Given the description of an element on the screen output the (x, y) to click on. 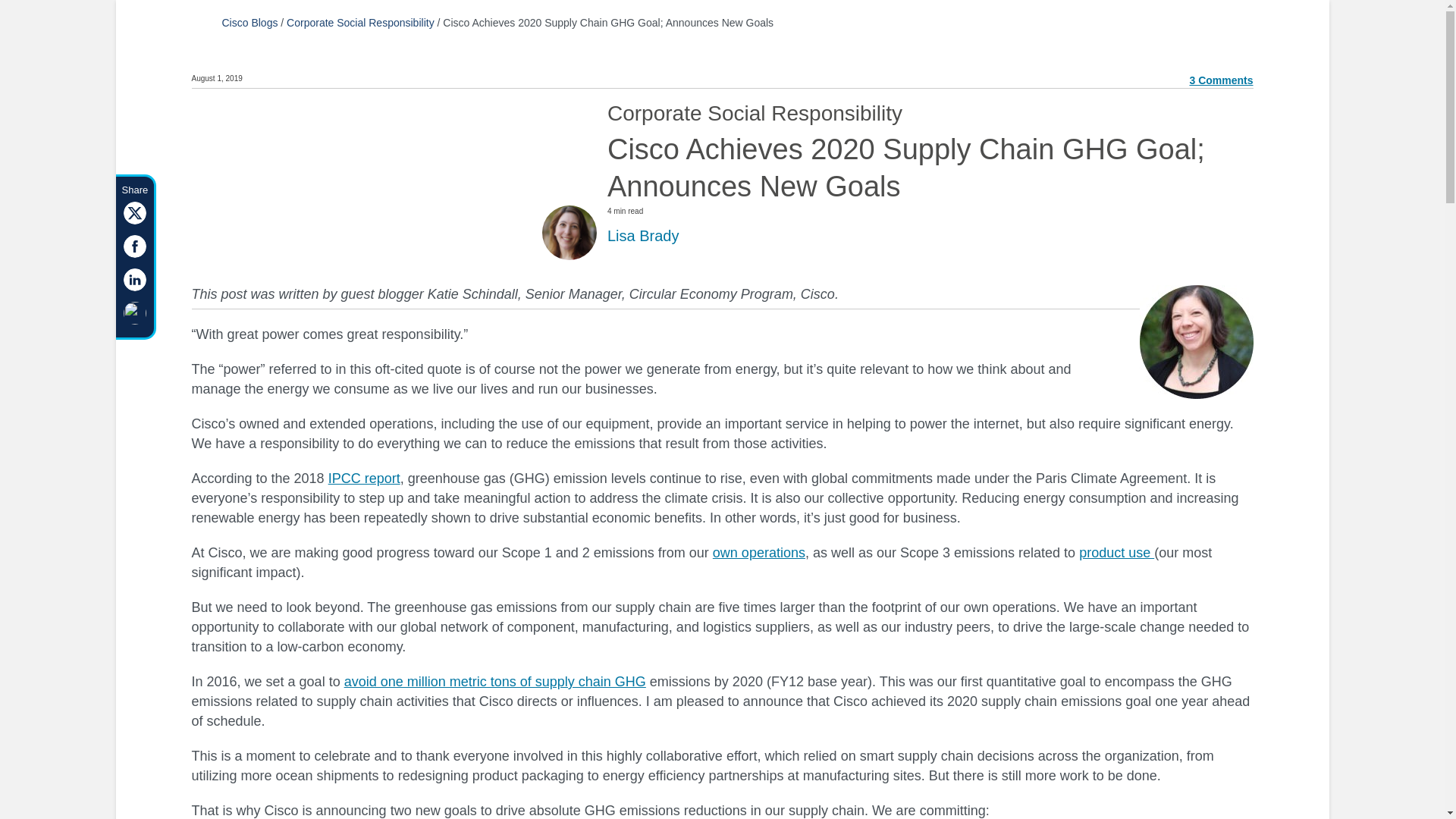
Lisa Brady (643, 235)
product use  (1116, 552)
Cisco Blogs (249, 22)
Posts by Lisa Brady (643, 235)
own operations (759, 552)
IPCC report (364, 478)
Corporate Social Responsibility (359, 22)
avoid one million metric tons of supply chain GHG (494, 681)
